Given the description of an element on the screen output the (x, y) to click on. 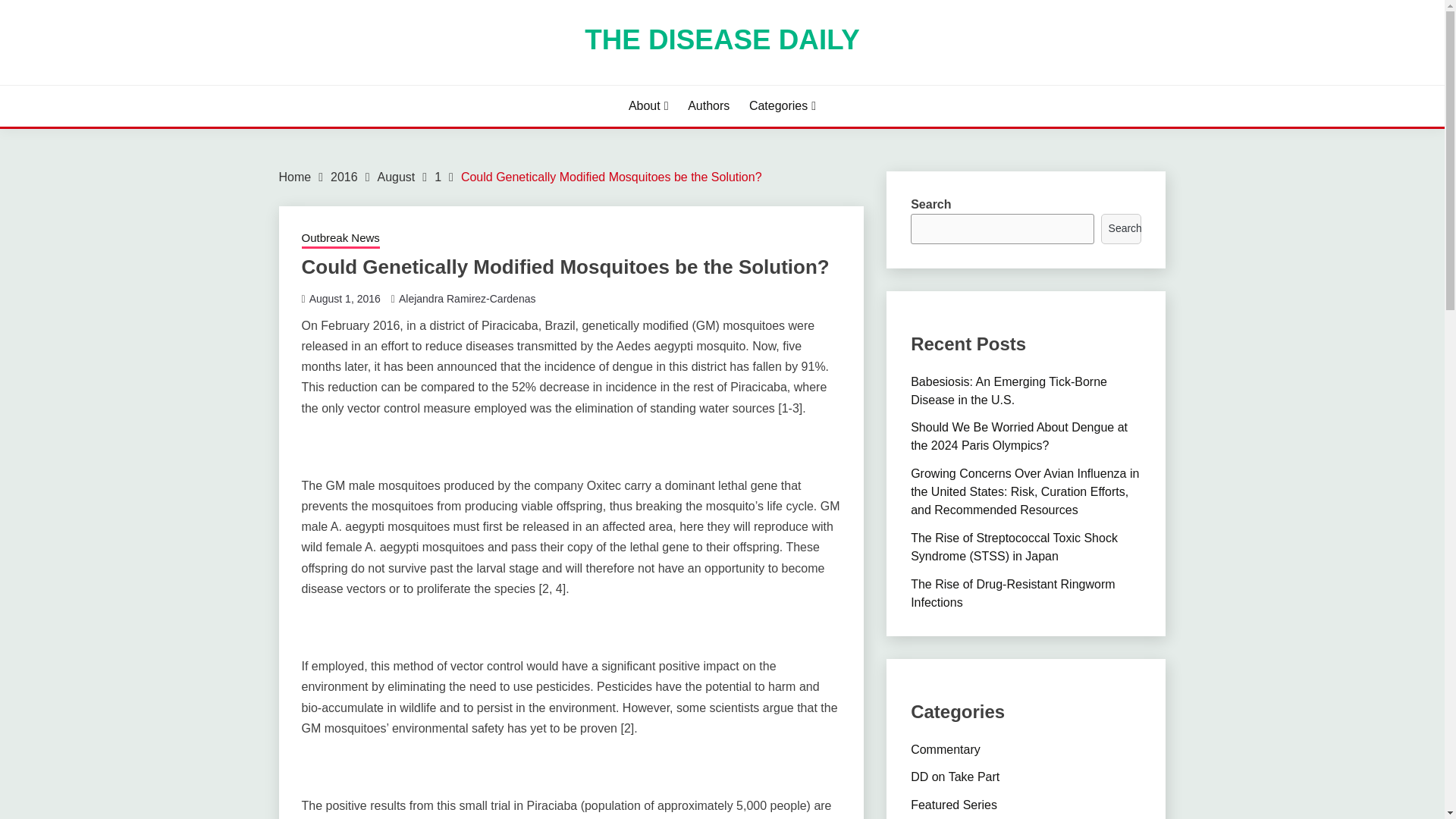
August 1, 2016 (344, 298)
THE DISEASE DAILY (722, 39)
Could Genetically Modified Mosquitoes be the Solution? (611, 176)
Outbreak News (340, 239)
About (648, 106)
2016 (344, 176)
Home (295, 176)
Categories (782, 106)
August (395, 176)
Thoughtful insight on the infectious disease scene (945, 748)
